Given the description of an element on the screen output the (x, y) to click on. 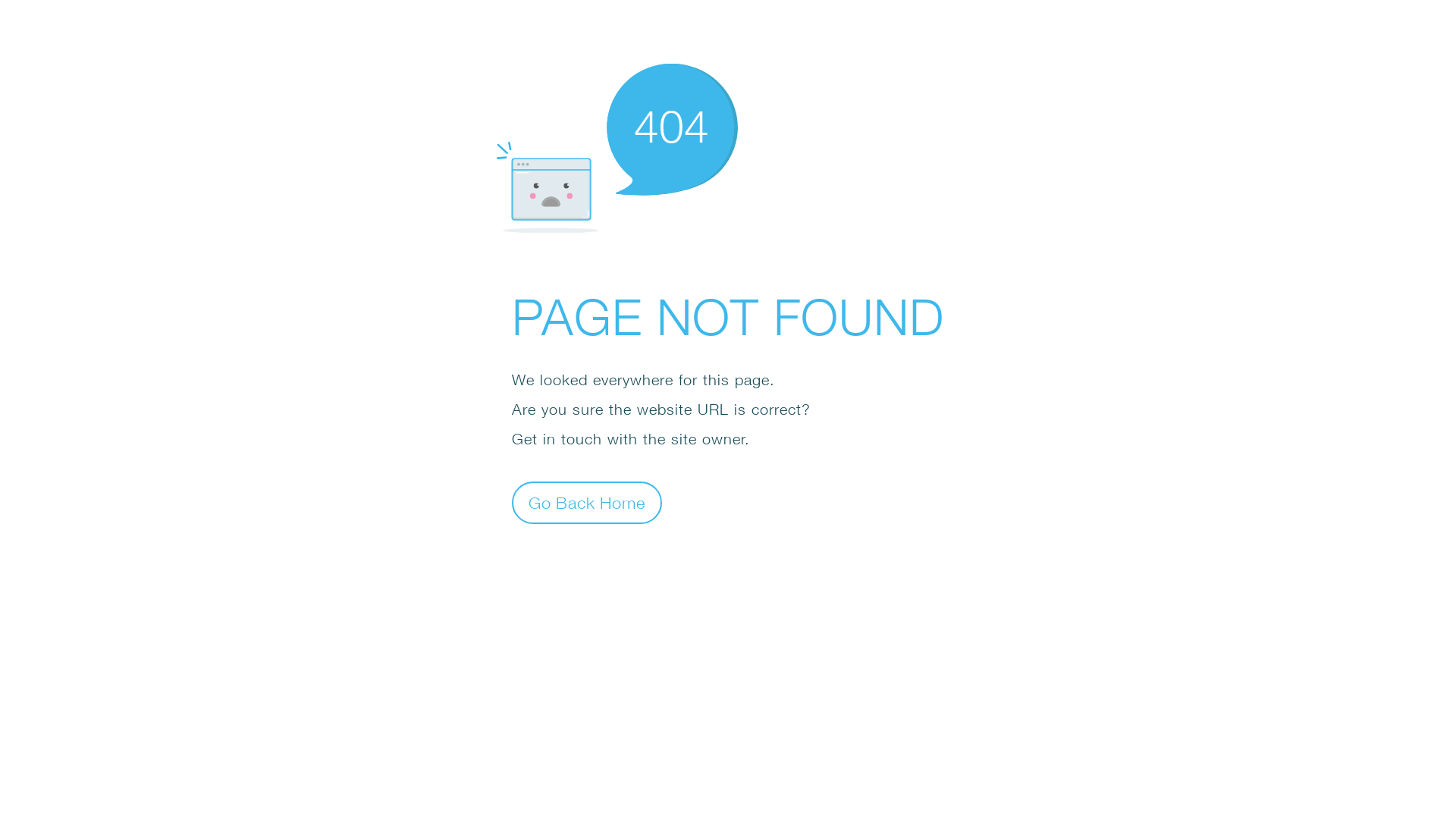
Go Back Home Element type: text (586, 502)
